Given the description of an element on the screen output the (x, y) to click on. 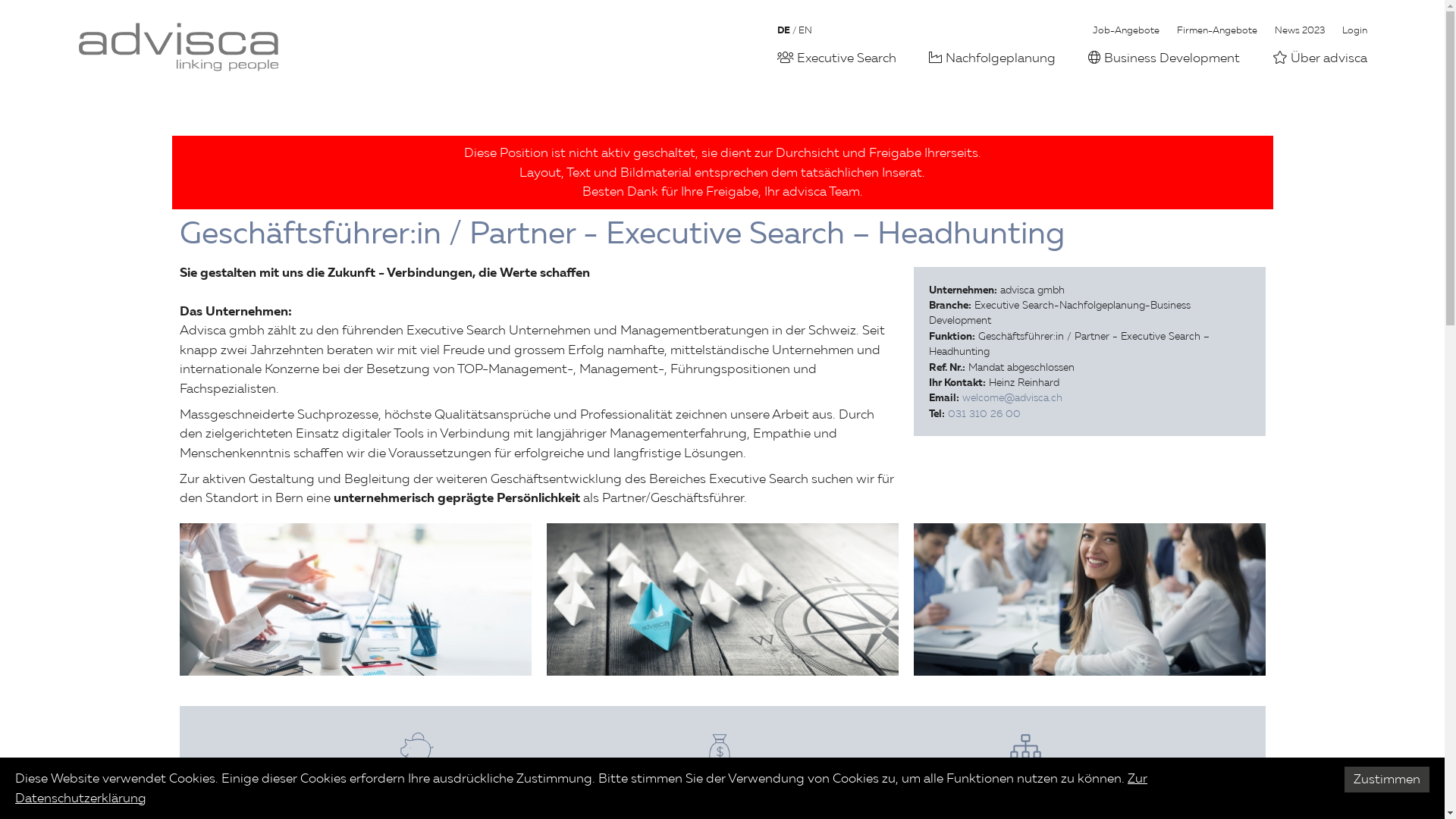
Firmen-Angebote Element type: text (1216, 29)
Job-Angebote Element type: text (1125, 29)
welcome@advisca.ch Element type: text (1011, 397)
031 310 26 00 Element type: text (983, 413)
Login Element type: text (1354, 29)
EN Element type: text (804, 29)
News 2023 Element type: text (1299, 29)
advisca Element type: hover (177, 47)
Business Development Element type: text (1163, 57)
Nachfolgeplanung Element type: text (991, 57)
Executive Search Element type: text (835, 57)
DE Element type: text (783, 29)
